Given the description of an element on the screen output the (x, y) to click on. 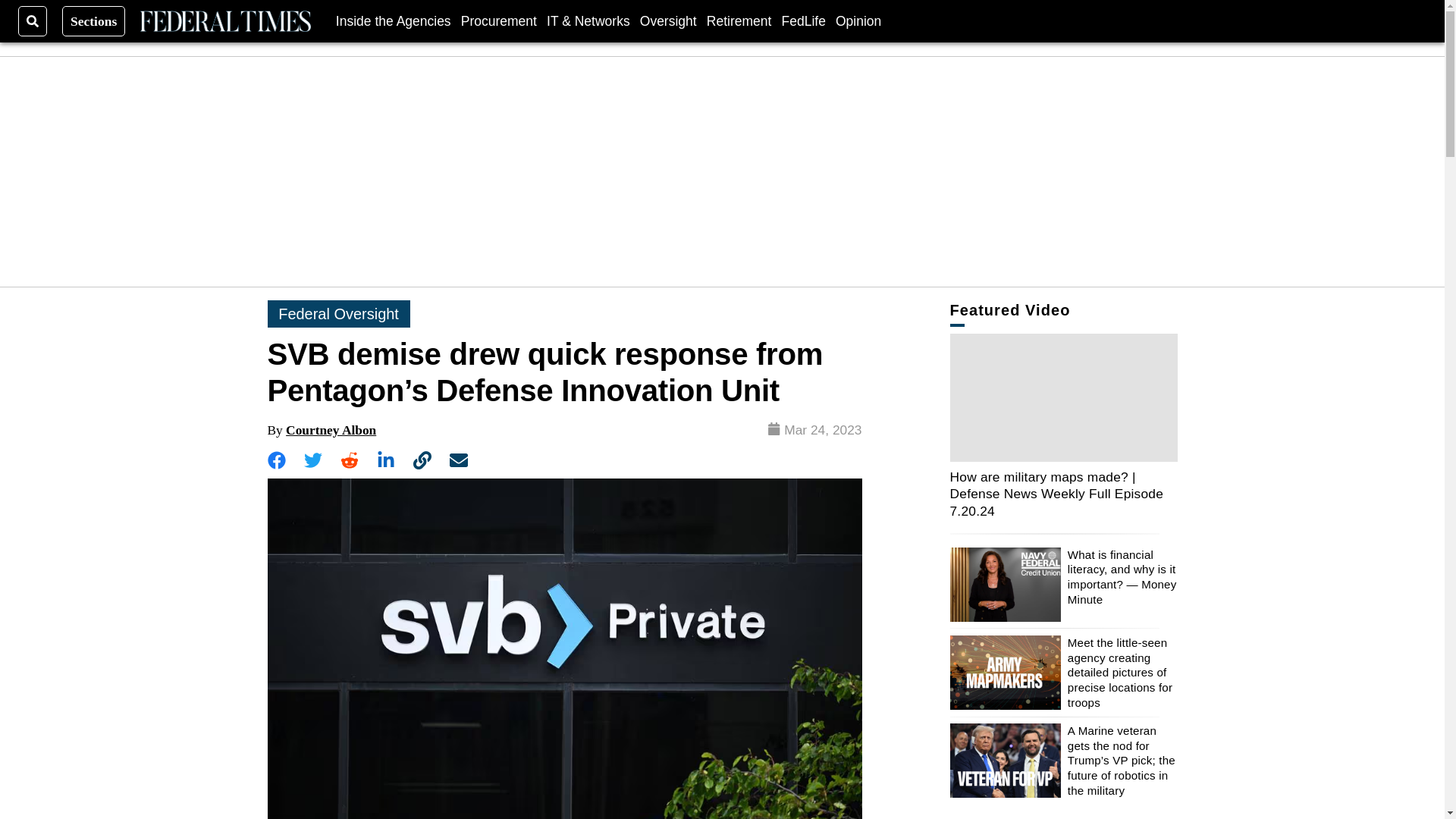
Retirement (738, 20)
FedLife (802, 20)
Opinion (857, 20)
Federal Times Logo (224, 20)
Sections (93, 20)
Procurement (499, 20)
Inside the Agencies (393, 20)
Oversight (668, 20)
